Given the description of an element on the screen output the (x, y) to click on. 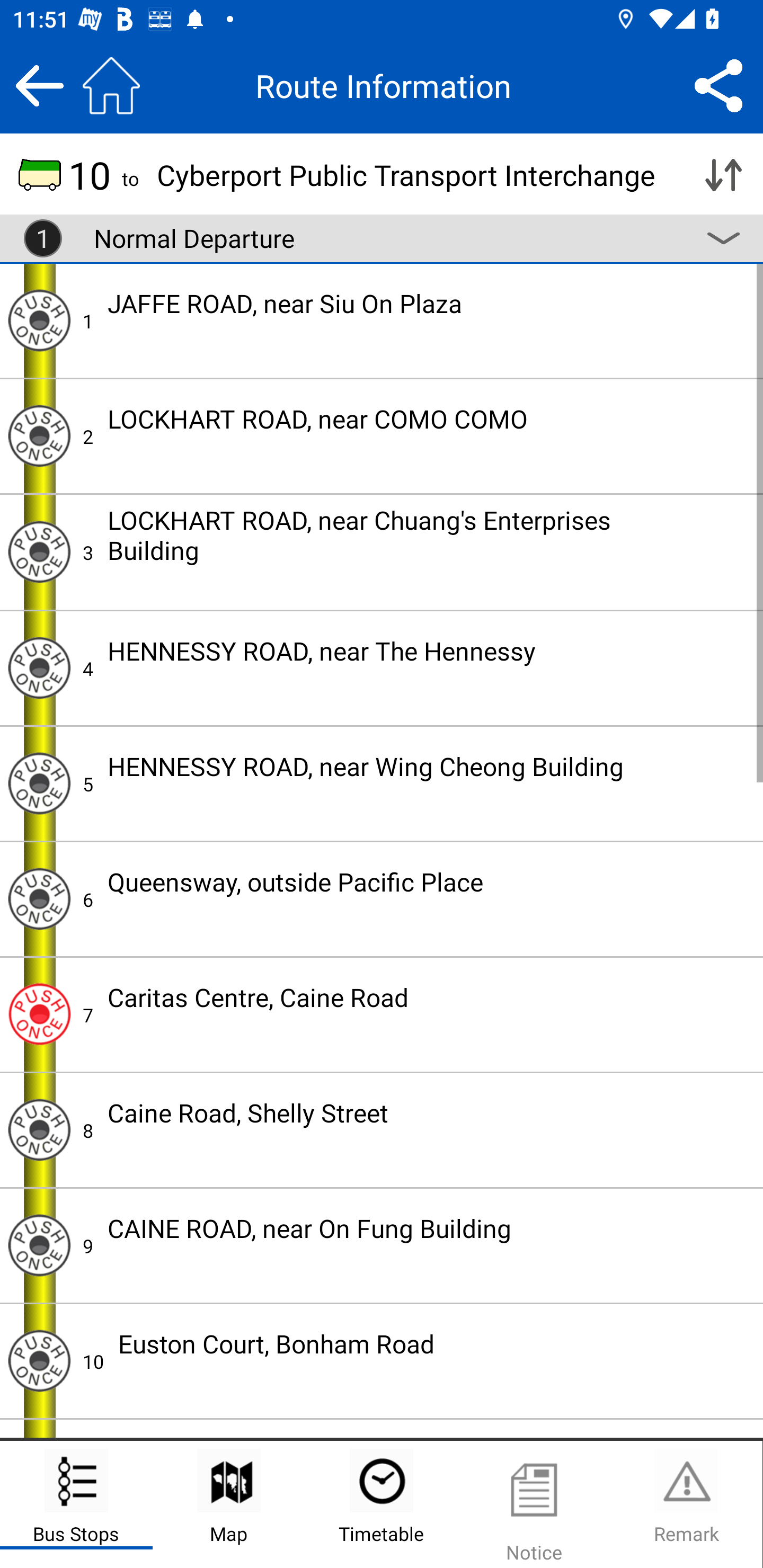
Jump to home page (111, 85)
Share point to point route search criteria) (718, 85)
Back (39, 85)
Reverse direction (723, 174)
Other routes (723, 238)
Alight Reminder (39, 320)
Alight Reminder (39, 435)
Alight Reminder (39, 551)
Alight Reminder (39, 667)
Alight Reminder (39, 783)
Alight Reminder (39, 899)
Alight Reminder (39, 1014)
Alight Reminder (39, 1129)
Alight Reminder (39, 1245)
Alight Reminder (39, 1360)
Bus Stops (76, 1504)
Map (228, 1504)
Timetable (381, 1504)
Notice (533, 1504)
Remark (686, 1504)
